Given the description of an element on the screen output the (x, y) to click on. 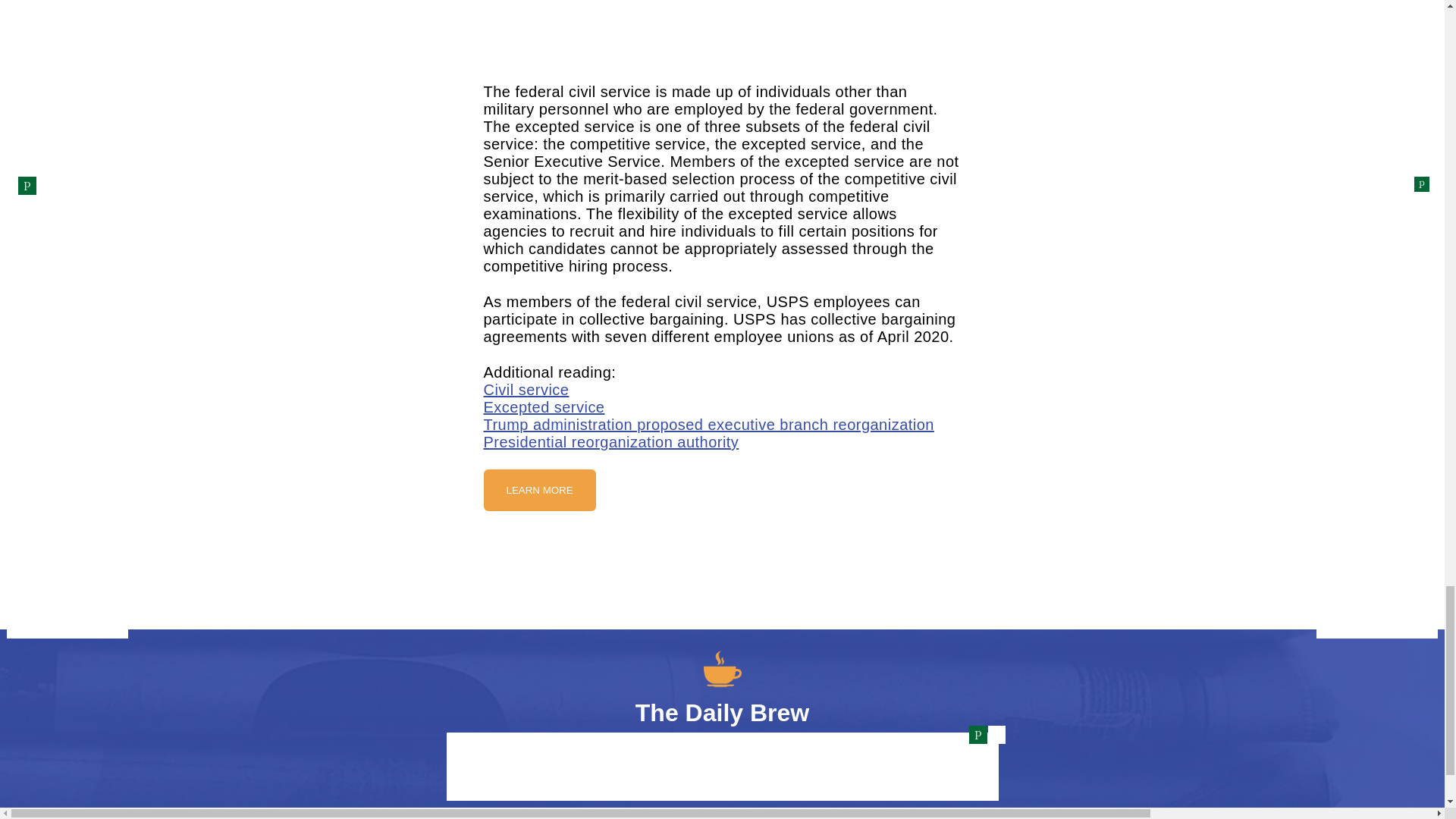
Sign Up (722, 786)
LEARN MORE (539, 489)
Excepted service (544, 406)
3rd party ad content (721, 29)
LEARN MORE (539, 490)
Presidential reorganization authority (611, 442)
3rd party ad content (721, 570)
Civil service (526, 389)
